Given the description of an element on the screen output the (x, y) to click on. 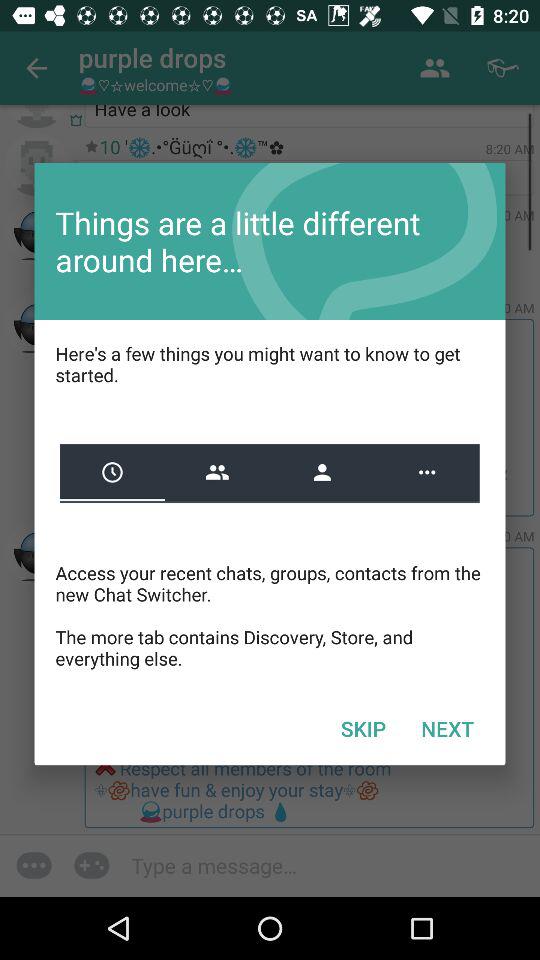
choose icon below the access your recent (363, 728)
